Given the description of an element on the screen output the (x, y) to click on. 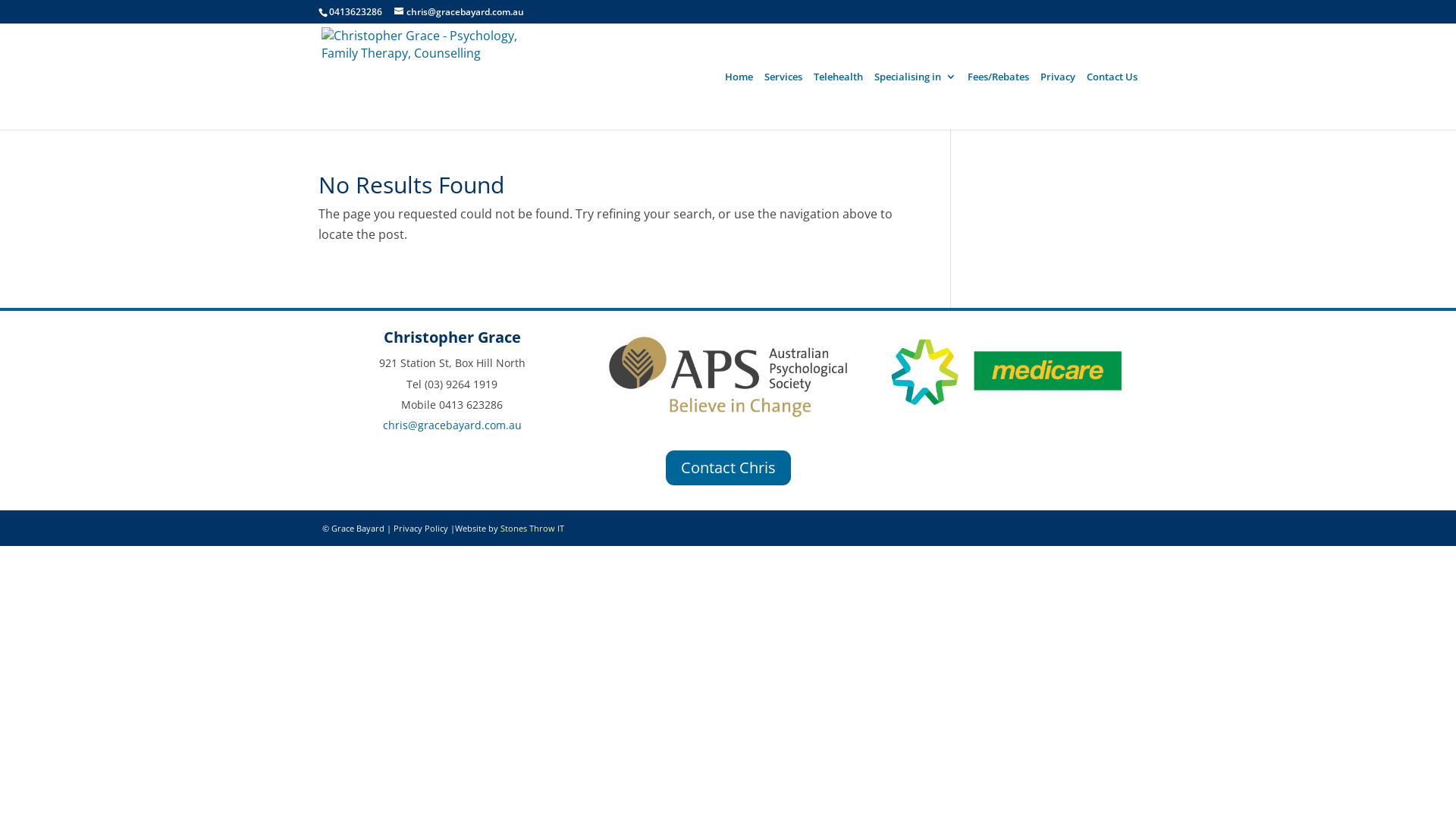
Contact Chris Element type: text (727, 467)
APS Element type: hover (727, 376)
Home Element type: text (738, 100)
Services Element type: text (783, 100)
Privacy Element type: text (1057, 100)
Contact Us Element type: text (1111, 100)
chris@gracebayard.com.au Element type: text (459, 11)
Privacy Policy Element type: text (420, 527)
Fees/Rebates Element type: text (998, 100)
chris@gracebayard.com.au Element type: text (451, 424)
medicare Element type: hover (1003, 370)
Stones Throw IT Element type: text (532, 527)
Specialising in Element type: text (915, 100)
Telehealth Element type: text (837, 100)
